Given the description of an element on the screen output the (x, y) to click on. 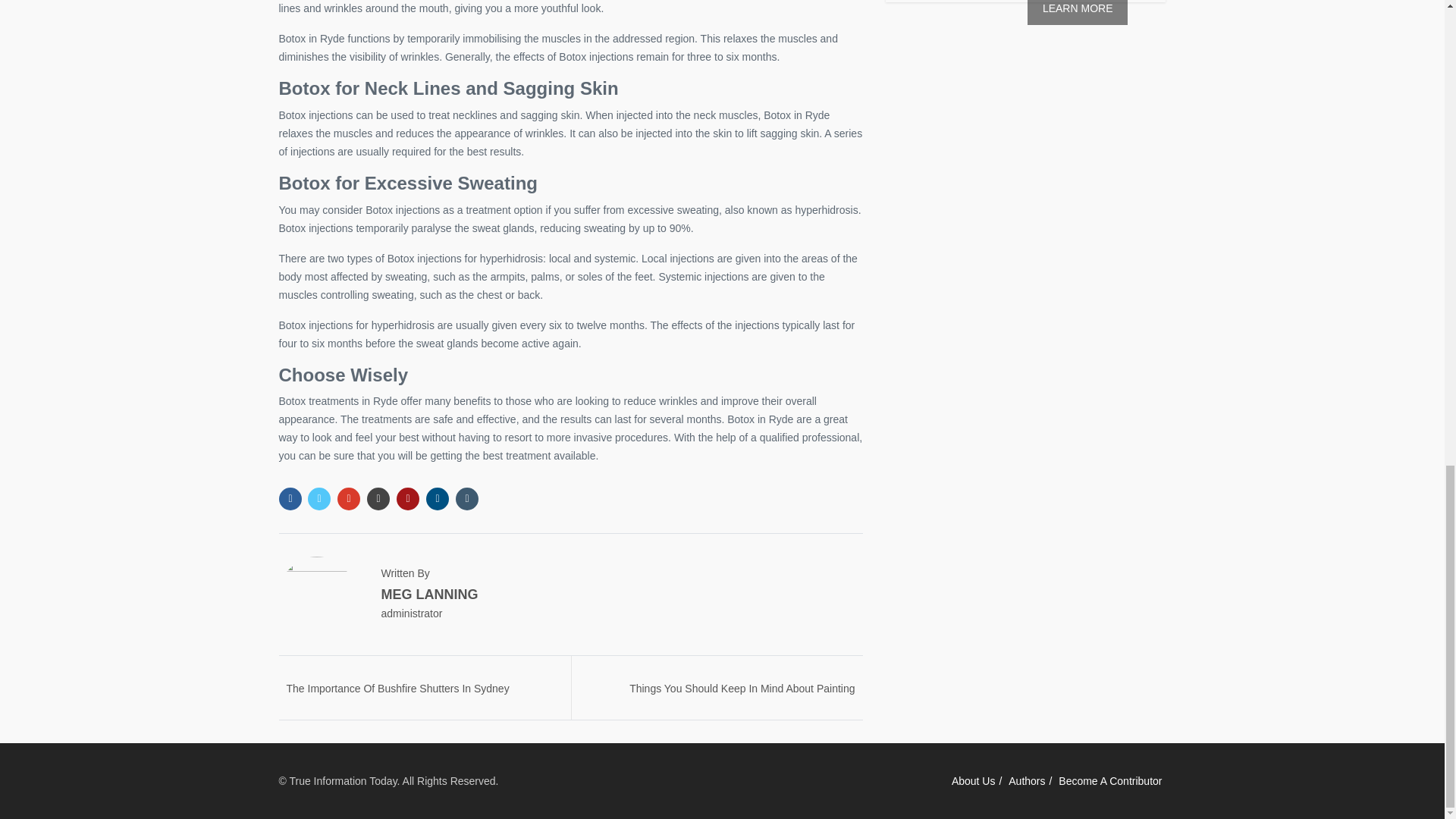
MEG LANNING (428, 594)
The Importance Of Bushfire Shutters In Sydney During Summer (397, 695)
